Given the description of an element on the screen output the (x, y) to click on. 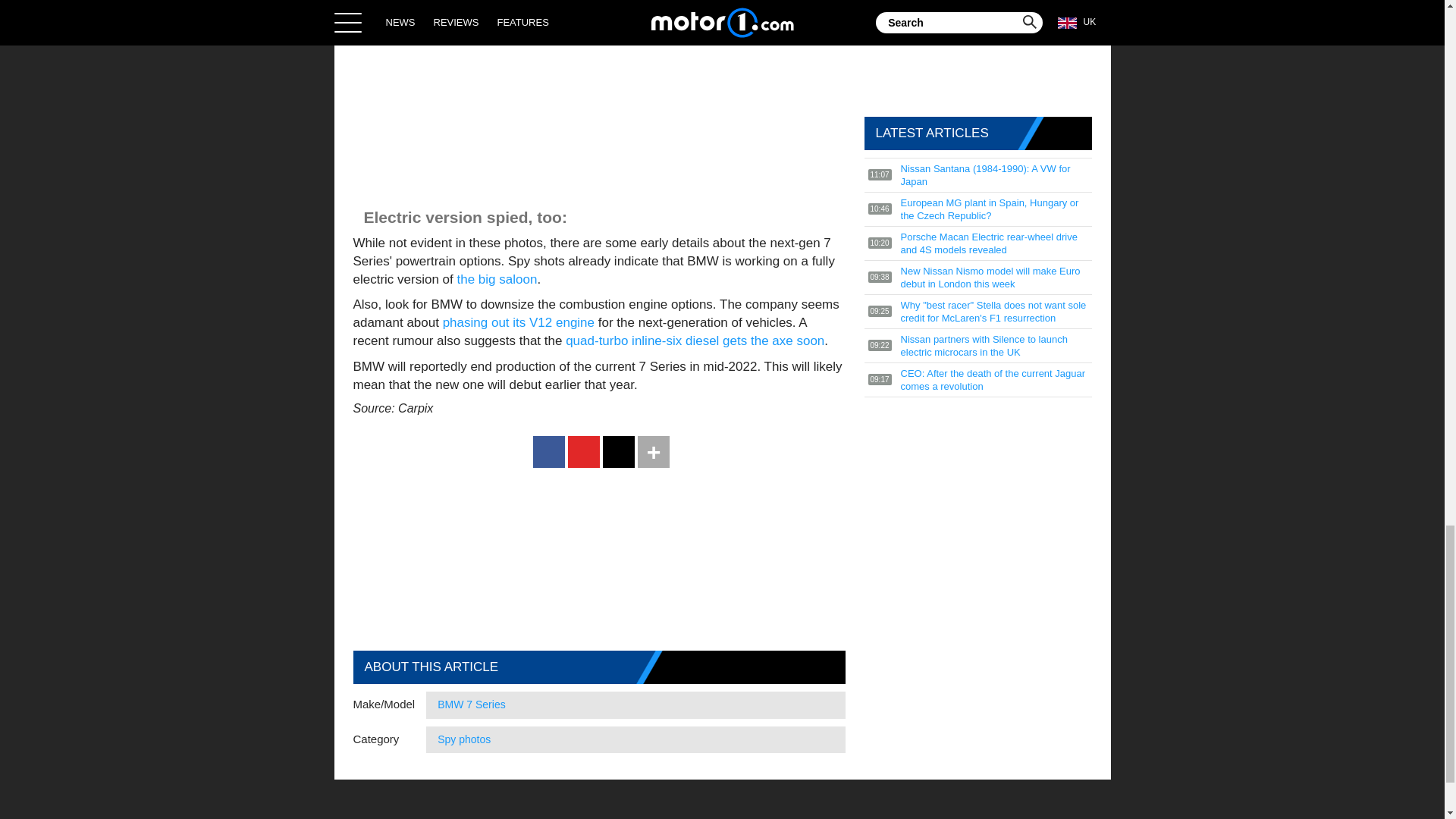
phasing out its V12 engine (518, 322)
the big saloon (497, 278)
quad-turbo inline-six diesel gets the axe soon (695, 340)
